Given the description of an element on the screen output the (x, y) to click on. 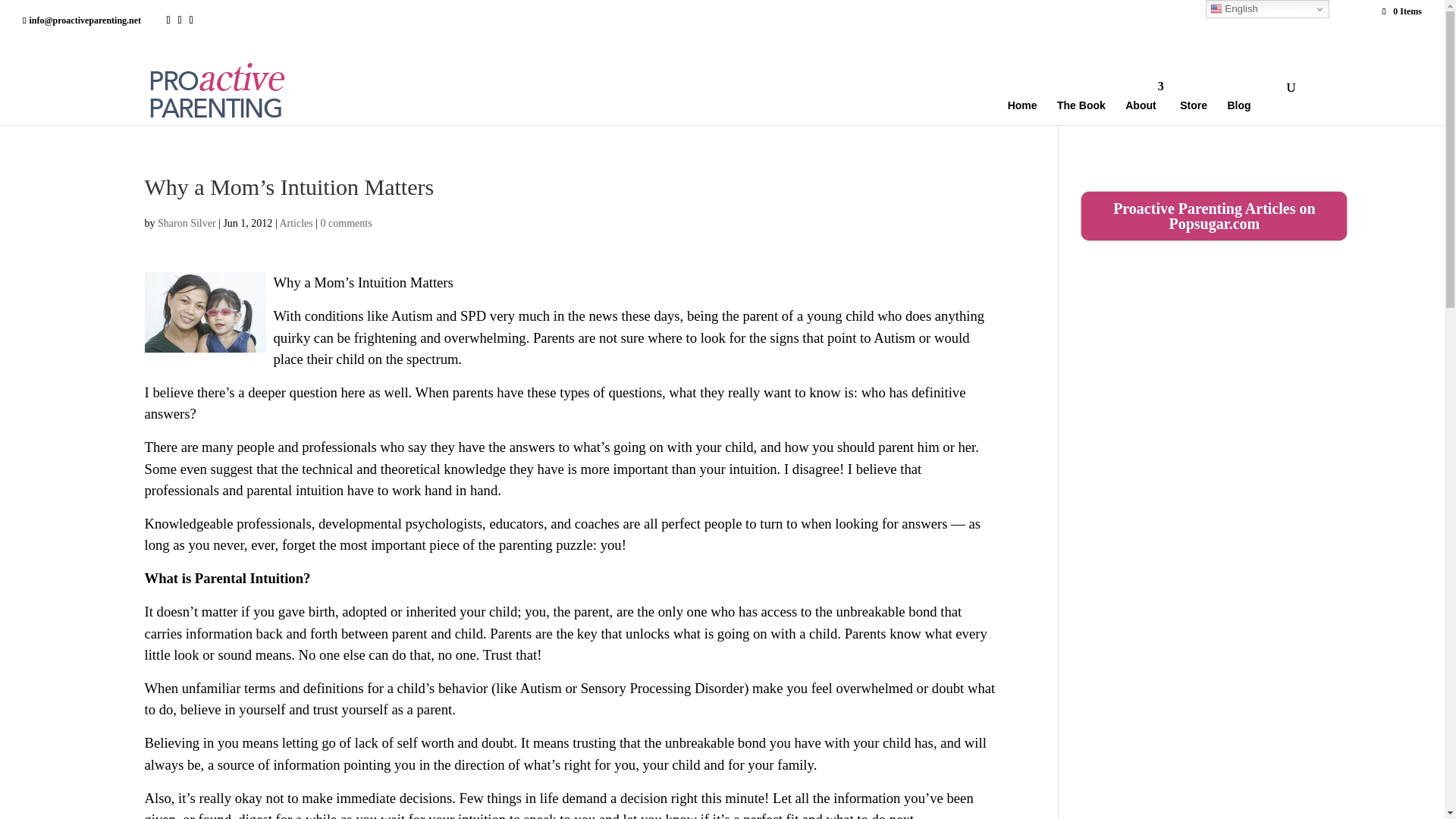
Home (1029, 103)
Blog (1245, 103)
About (1148, 103)
Proactive Parenting Articles on Popsugar.com (1213, 215)
Articles (296, 223)
0 Items (1401, 10)
Sharon Silver (186, 223)
Posts by Sharon Silver (186, 223)
The Book (1087, 103)
Sensory Processing Disorder (662, 688)
Autism (540, 688)
Store (1200, 103)
0 comments (346, 223)
